Given the description of an element on the screen output the (x, y) to click on. 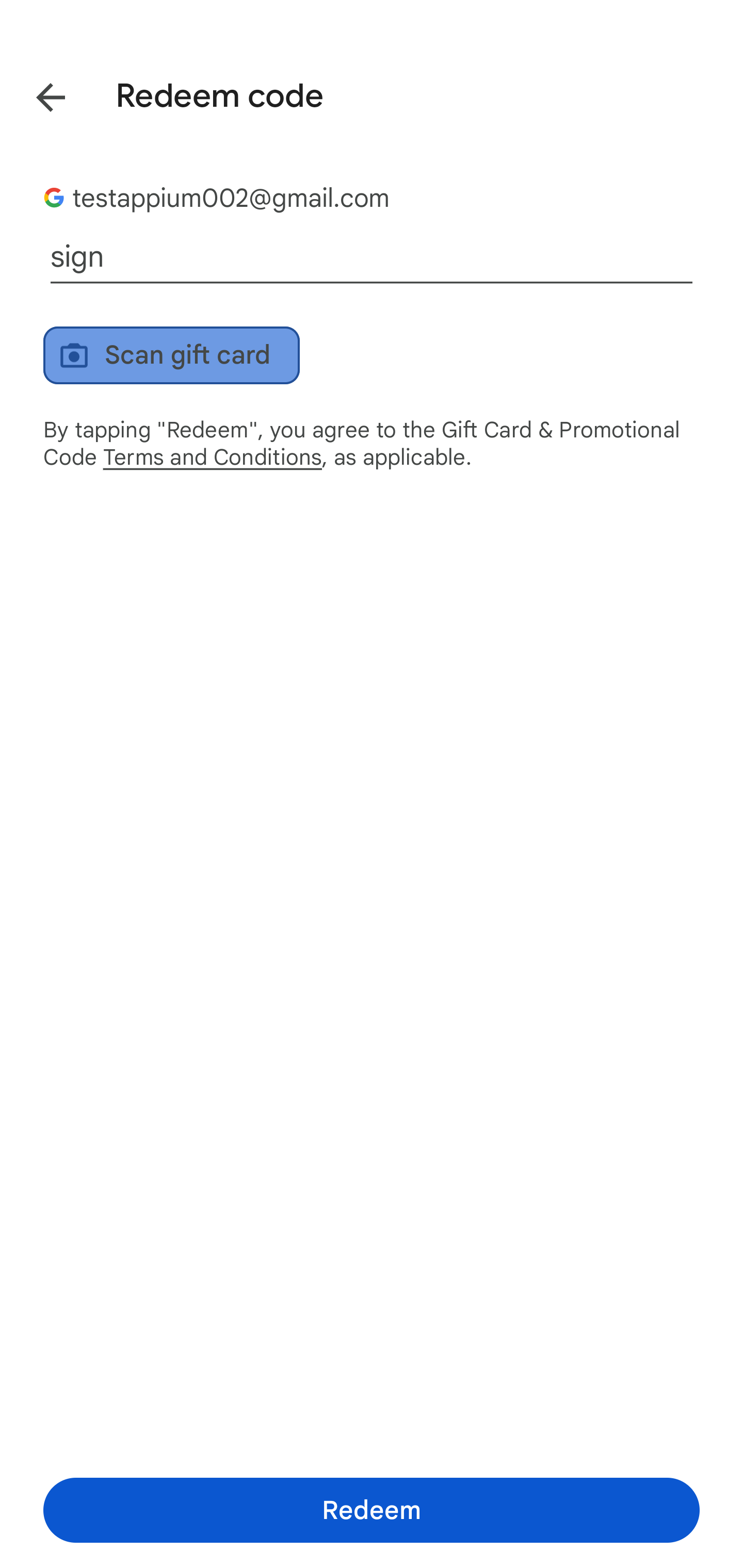
Back (36, 94)
sign (371, 256)
Scan gift card (171, 355)
Redeem (371, 1509)
